Given the description of an element on the screen output the (x, y) to click on. 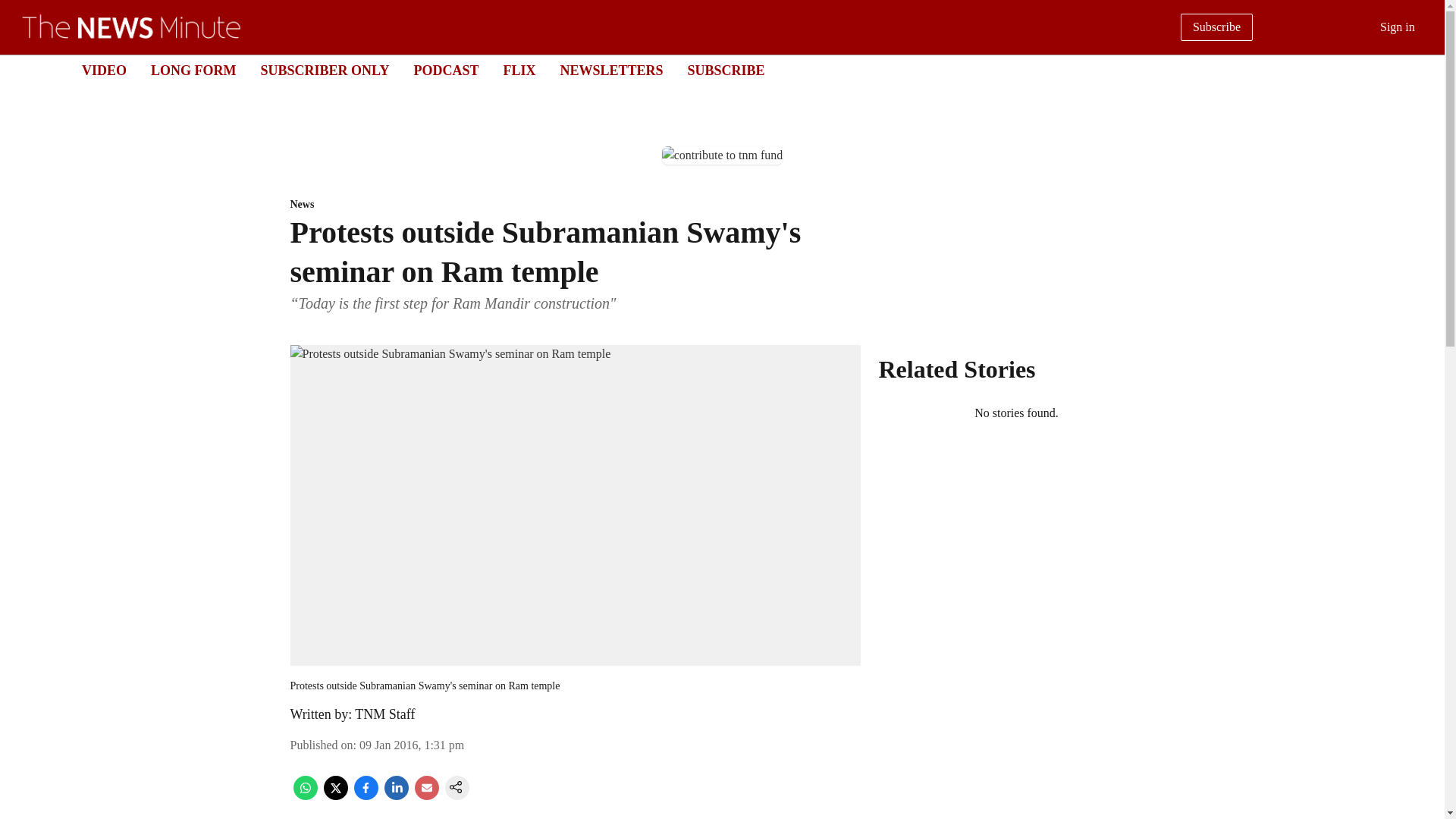
LONG FORM (193, 70)
SUBSCRIBE (726, 70)
PODCAST (446, 70)
VIDEO (103, 70)
TNM Staff (384, 713)
2016-01-09 05:31 (411, 744)
SUBSCRIBER ONLY (325, 70)
FLIX (518, 70)
News (574, 204)
